Given the description of an element on the screen output the (x, y) to click on. 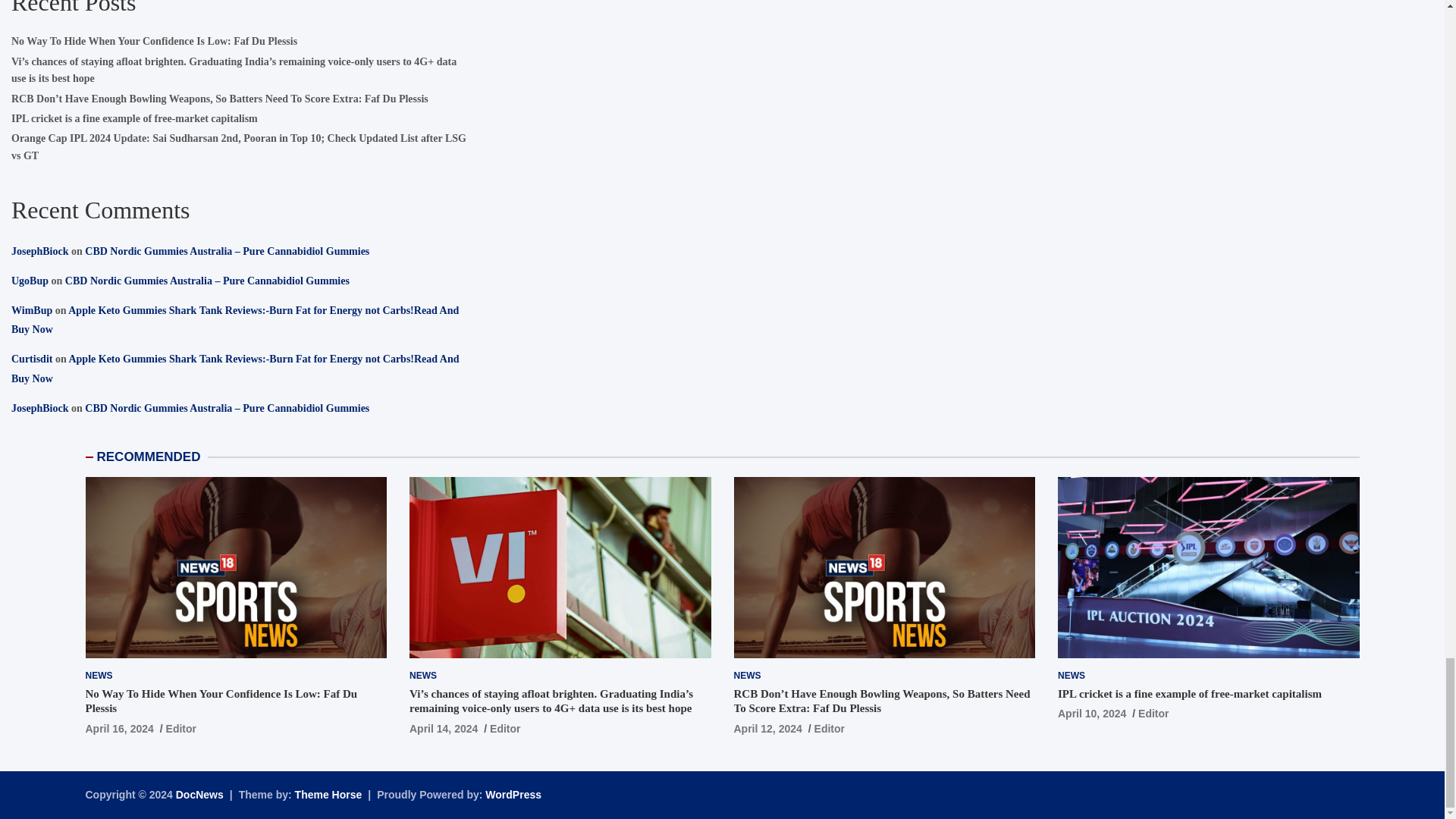
IPL cricket is a fine example of free-market capitalism (1091, 713)
Theme Horse (328, 794)
No Way To Hide When Your Confidence Is Low: Faf Du Plessis (118, 728)
WordPress (512, 794)
DocNews (200, 794)
